Given the description of an element on the screen output the (x, y) to click on. 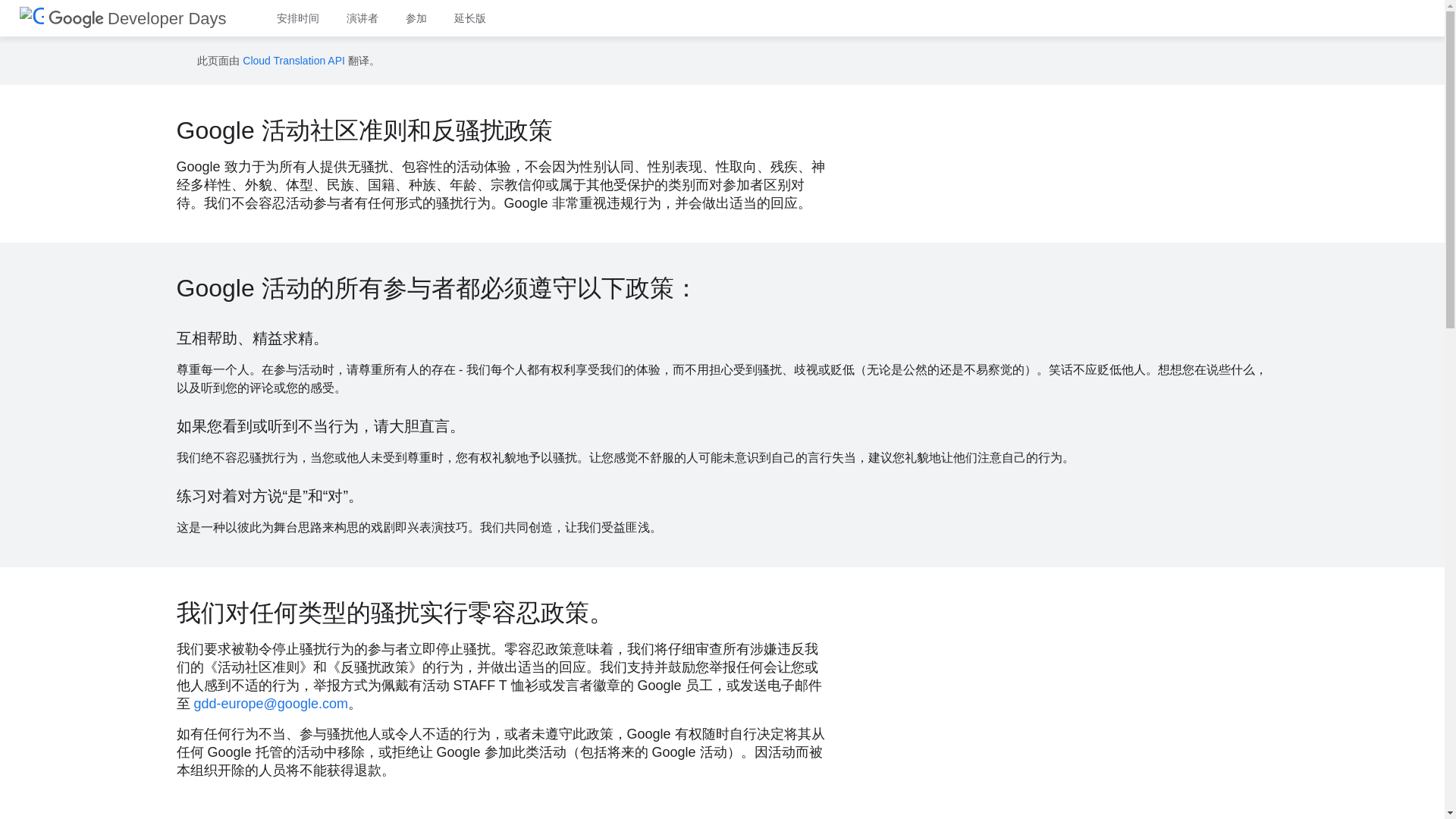
Developer Days (137, 18)
Cloud Translation API (294, 60)
